Given the description of an element on the screen output the (x, y) to click on. 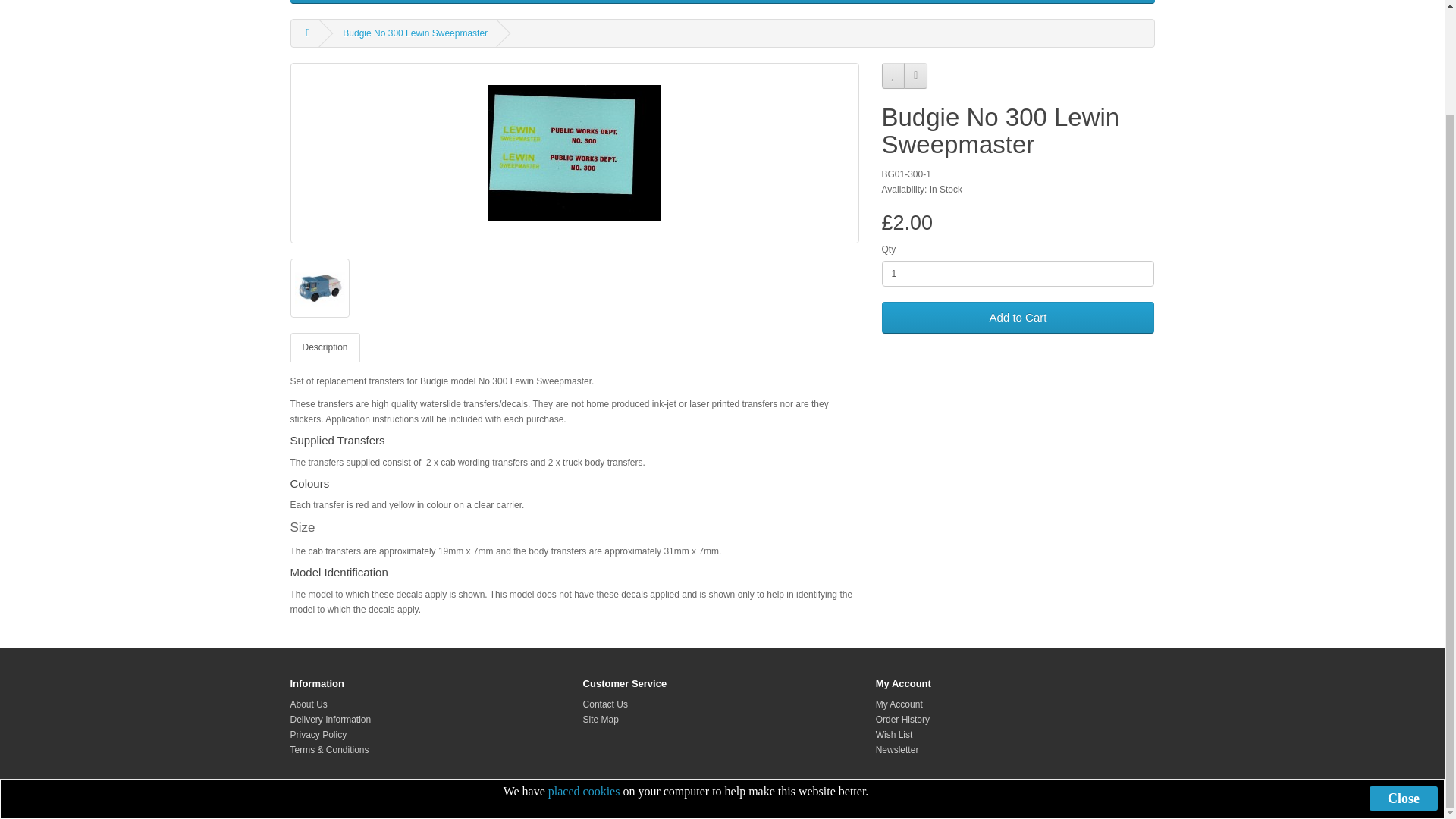
Budgie No 300 Lewin Sweepmaster (318, 287)
Minic (586, 1)
Crescent (394, 1)
Corgi (496, 1)
Matchbox (332, 1)
1 (1017, 273)
Budgie No 300 Lewin Sweepmaster (319, 287)
Budgie No 300 Lewin Sweepmaster (574, 152)
Budgie (448, 1)
Dinky (541, 1)
Budgie No 300 Lewin Sweepmaster (574, 153)
